Given the description of an element on the screen output the (x, y) to click on. 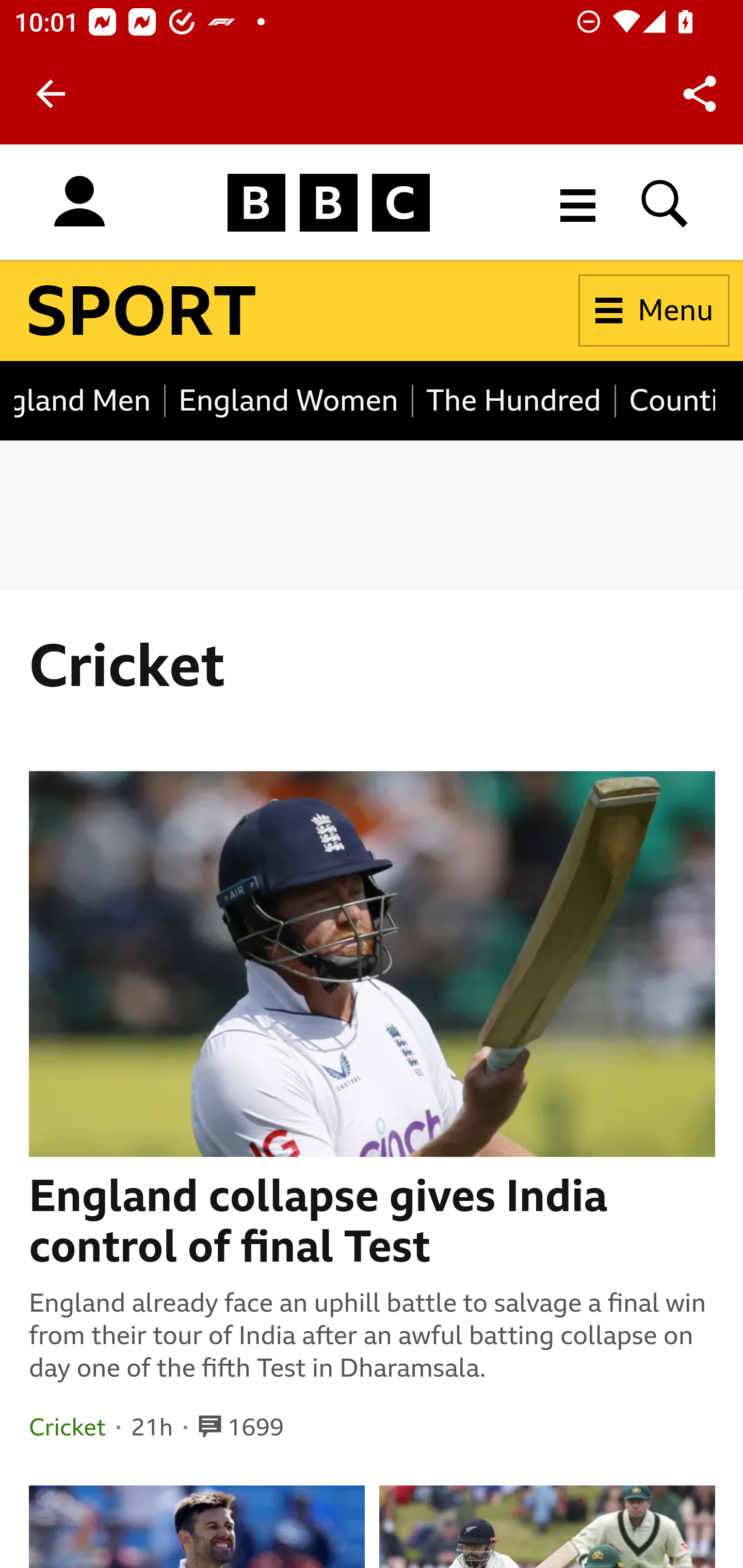
Back (50, 93)
Share (699, 93)
Sign in (79, 202)
BBC Homepage (329, 202)
More menu (578, 202)
Search BBC (665, 202)
BBC Sport (142, 311)
Menu (654, 311)
England Men (90, 400)
England Women (288, 400)
The Hundred (514, 400)
Counties (664, 400)
England collapse gives India control of final Test (372, 1221)
Cricket (67, 1426)
